Given the description of an element on the screen output the (x, y) to click on. 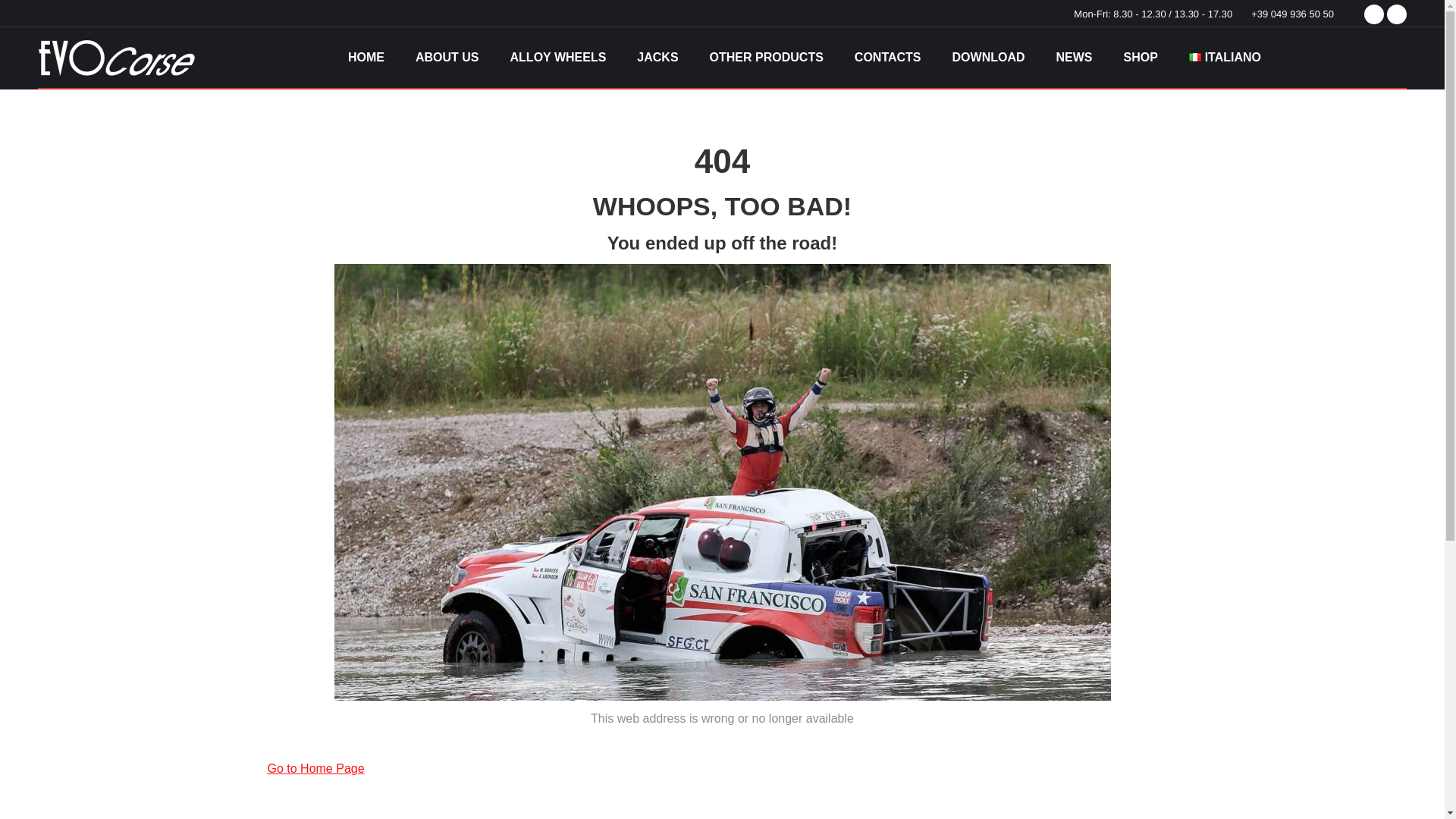
Go! (24, 16)
NEWS (1074, 57)
JACKS (657, 57)
SHOP (1140, 57)
OTHER PRODUCTS (766, 57)
DOWNLOAD (989, 57)
Instagram page opens in new window (1396, 14)
Facebook page opens in new window (1374, 14)
ABOUT US (447, 57)
HOME (365, 57)
Facebook page opens in new window (1374, 14)
CONTACTS (888, 57)
ITALIANO (1224, 57)
ALLOY WHEELS (558, 57)
Instagram page opens in new window (1396, 14)
